Given the description of an element on the screen output the (x, y) to click on. 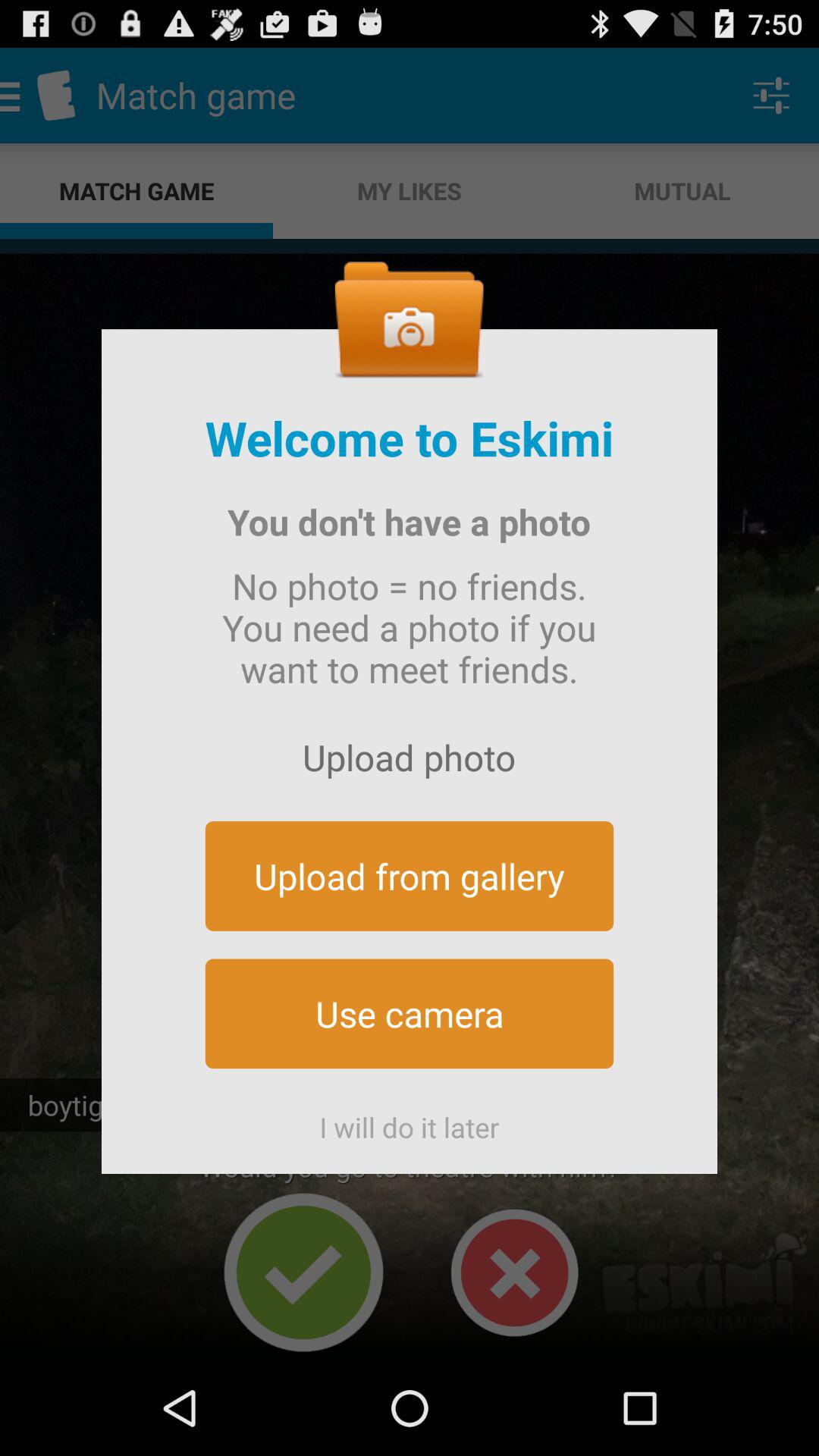
choose the item below the use camera (409, 1120)
